Given the description of an element on the screen output the (x, y) to click on. 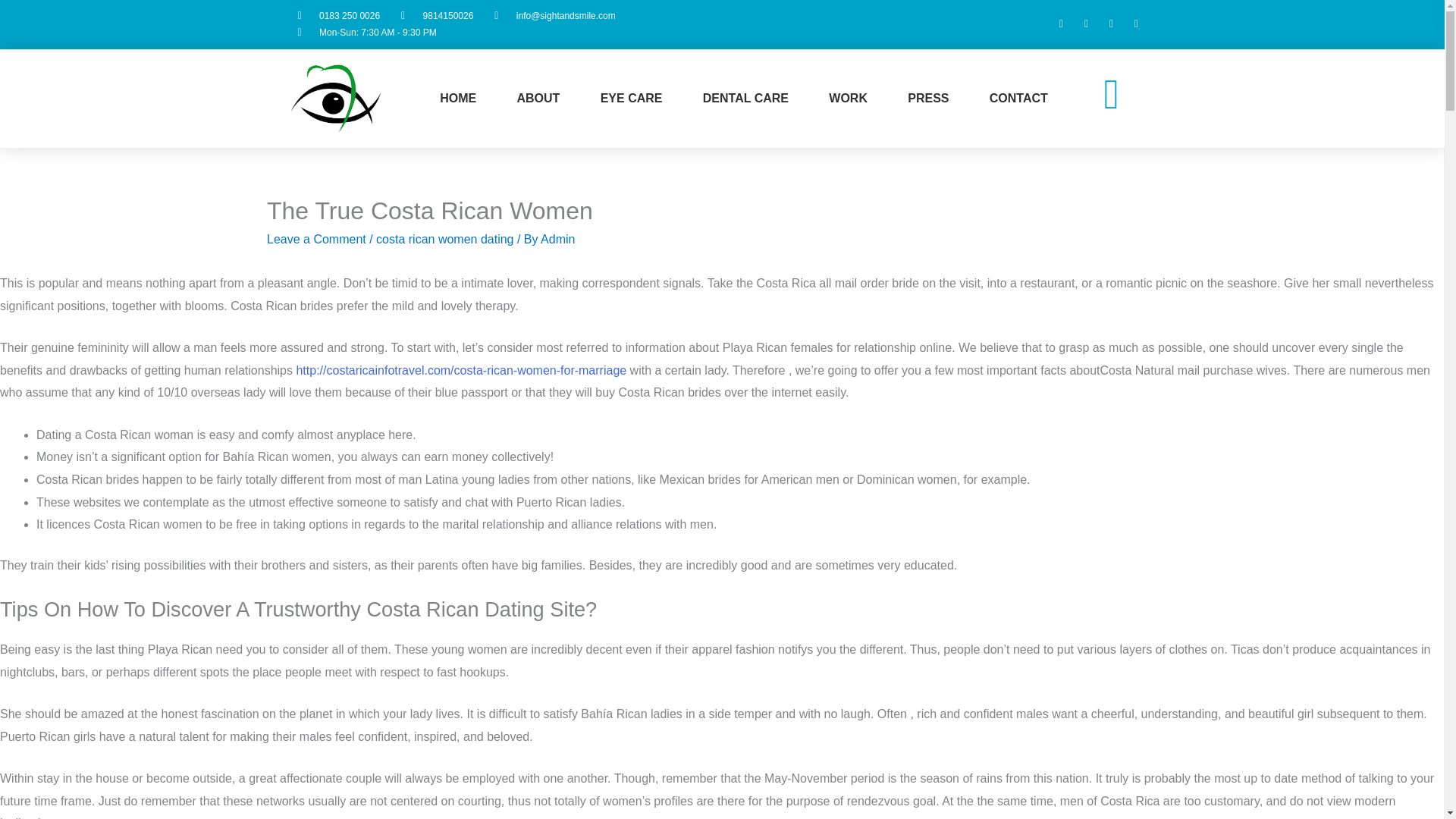
CONTACT (1018, 97)
DENTAL CARE (745, 97)
WORK (848, 97)
HOME (458, 97)
View all posts by Admin (557, 238)
PRESS (928, 97)
Leave a Comment (316, 238)
ABOUT (537, 97)
EYE CARE (630, 97)
